Given the description of an element on the screen output the (x, y) to click on. 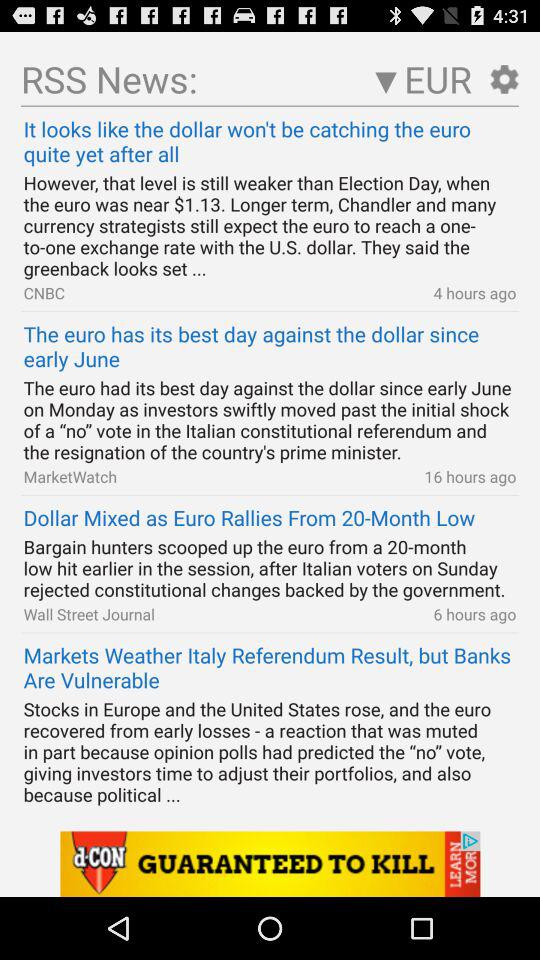
banner advertisement (270, 864)
